Given the description of an element on the screen output the (x, y) to click on. 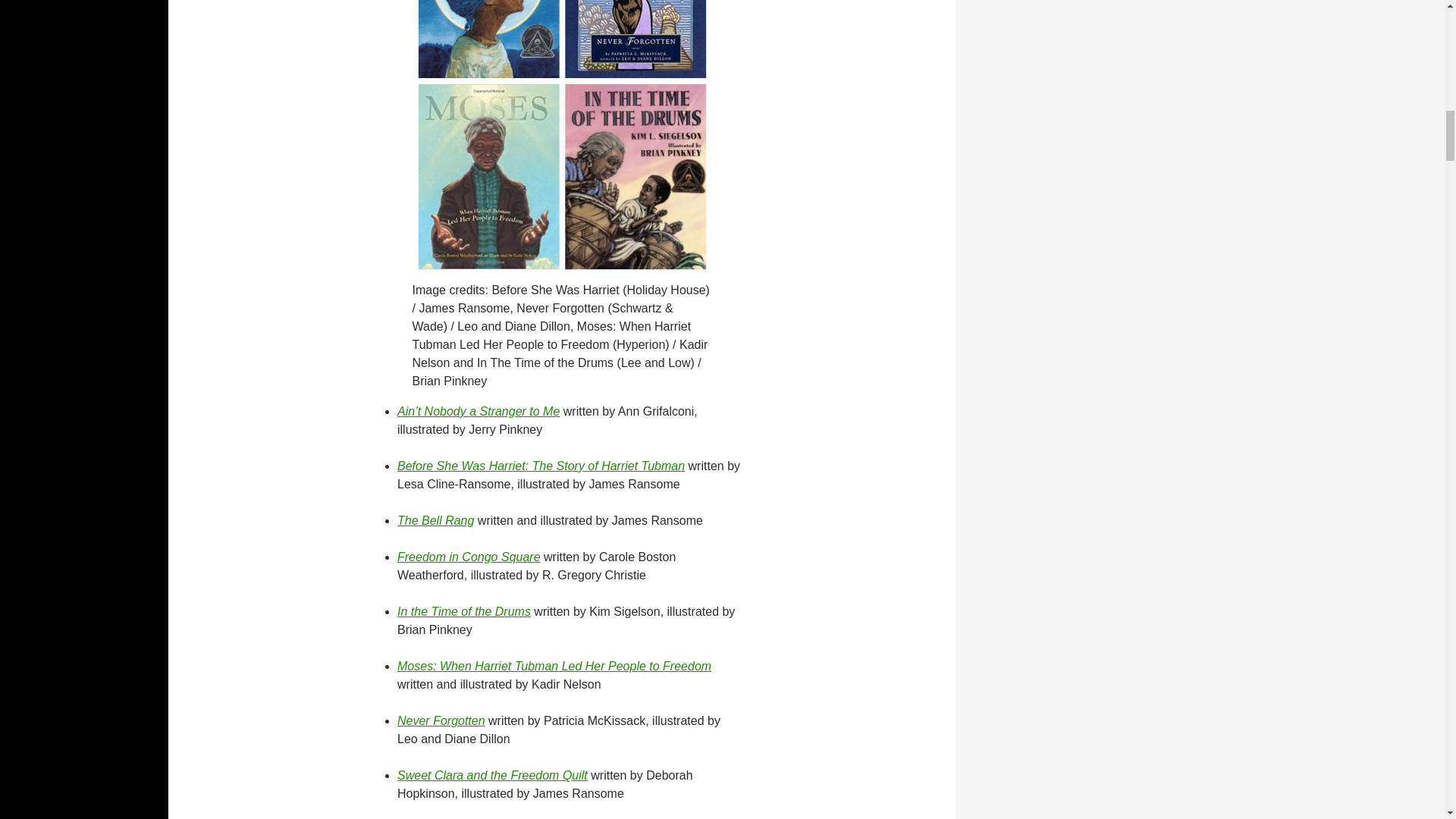
Before She Was Harriet: The Story of Harriet Tubman (540, 465)
Moses: When Harriet Tubman Led Her People to Freedom (554, 666)
The Bell Rang (435, 520)
Freedom in Congo Square (468, 556)
In the Time of the Drums (464, 611)
Sweet Clara and the Freedom Quilt (492, 775)
Never Forgotten (440, 720)
